Given the description of an element on the screen output the (x, y) to click on. 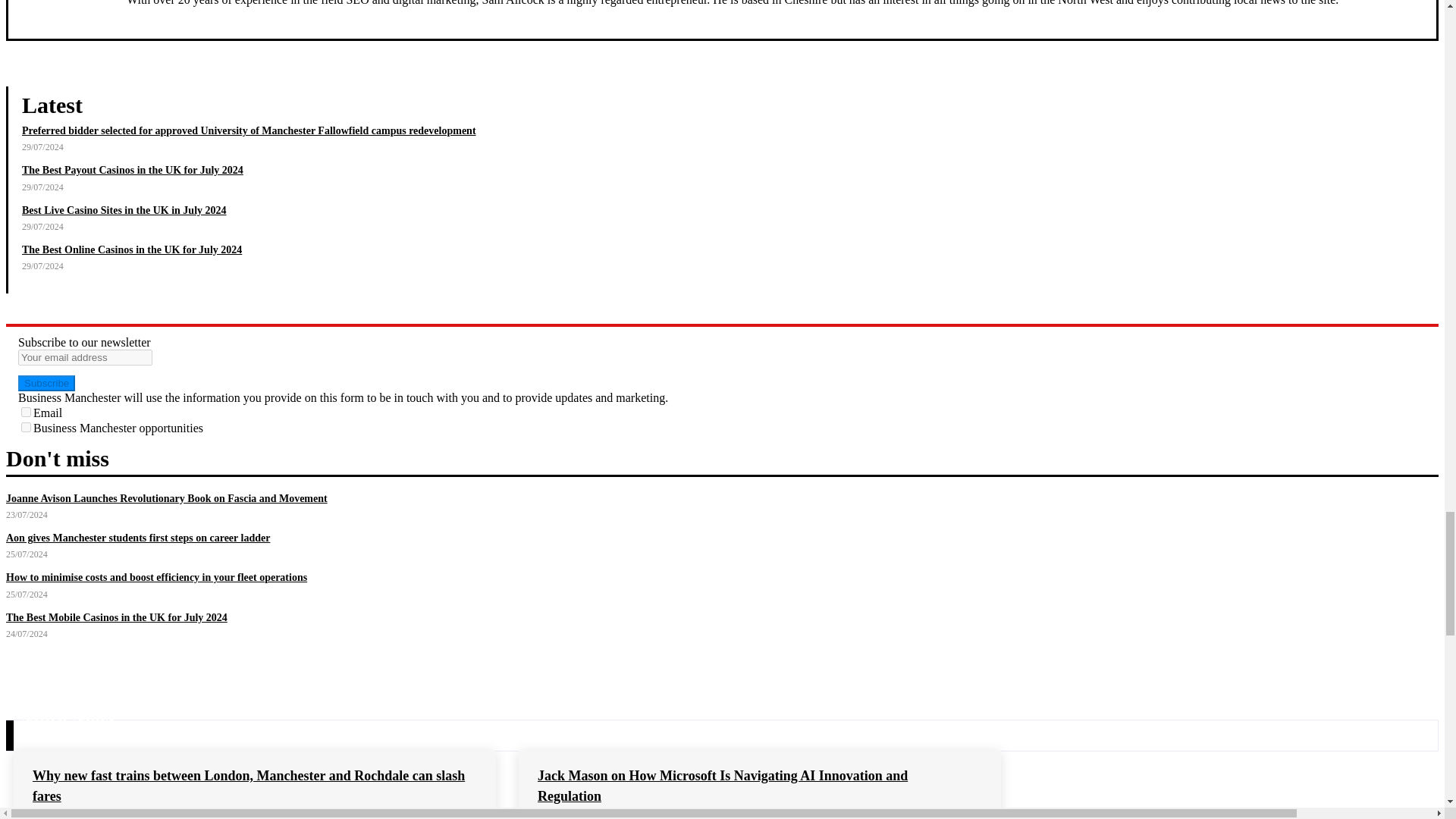
Y (25, 427)
Y (25, 411)
